Given the description of an element on the screen output the (x, y) to click on. 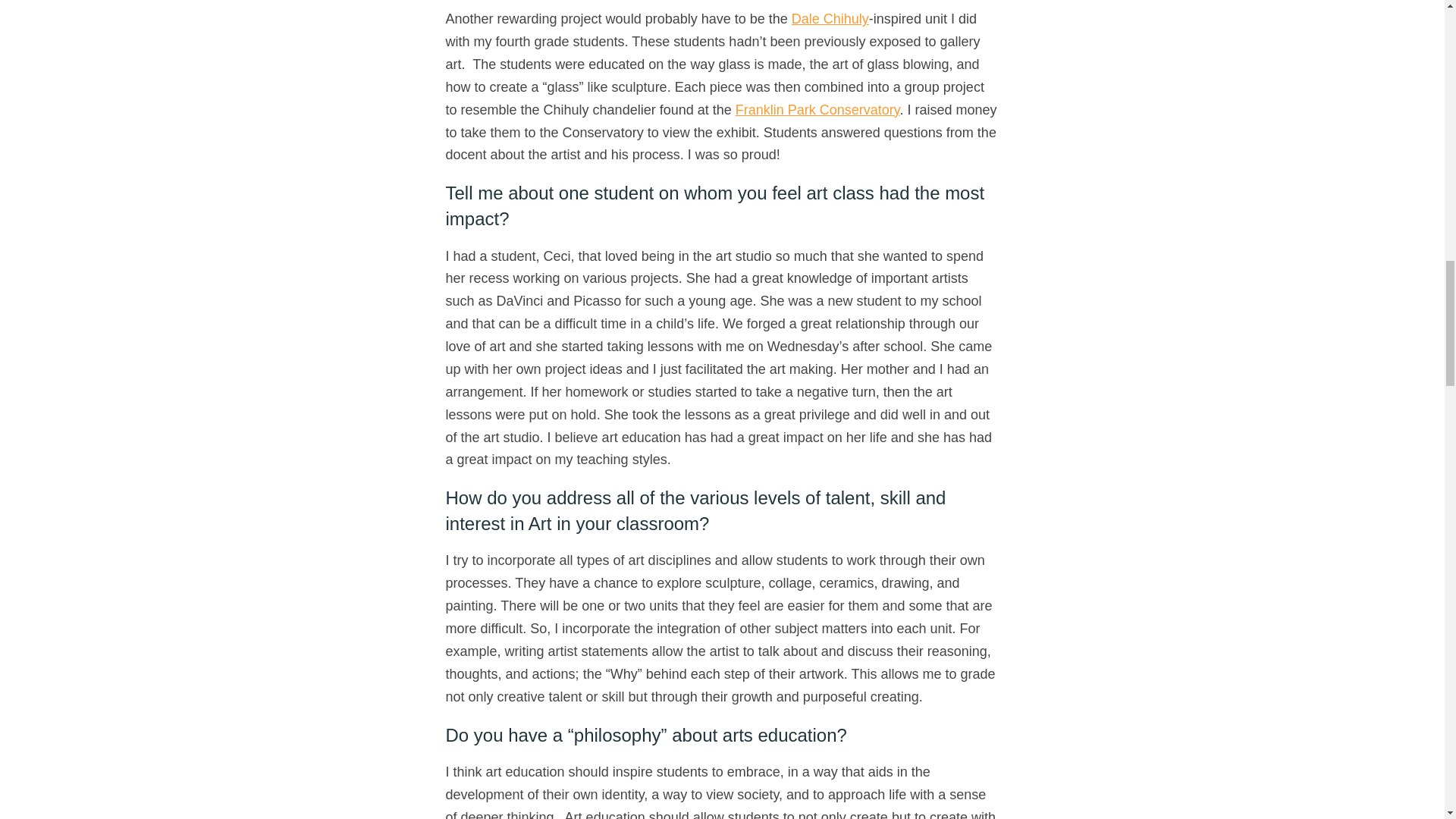
Dale Chihuly (830, 18)
Franklin Park Conservatory (817, 109)
Dale Chihuly (830, 18)
